Given the description of an element on the screen output the (x, y) to click on. 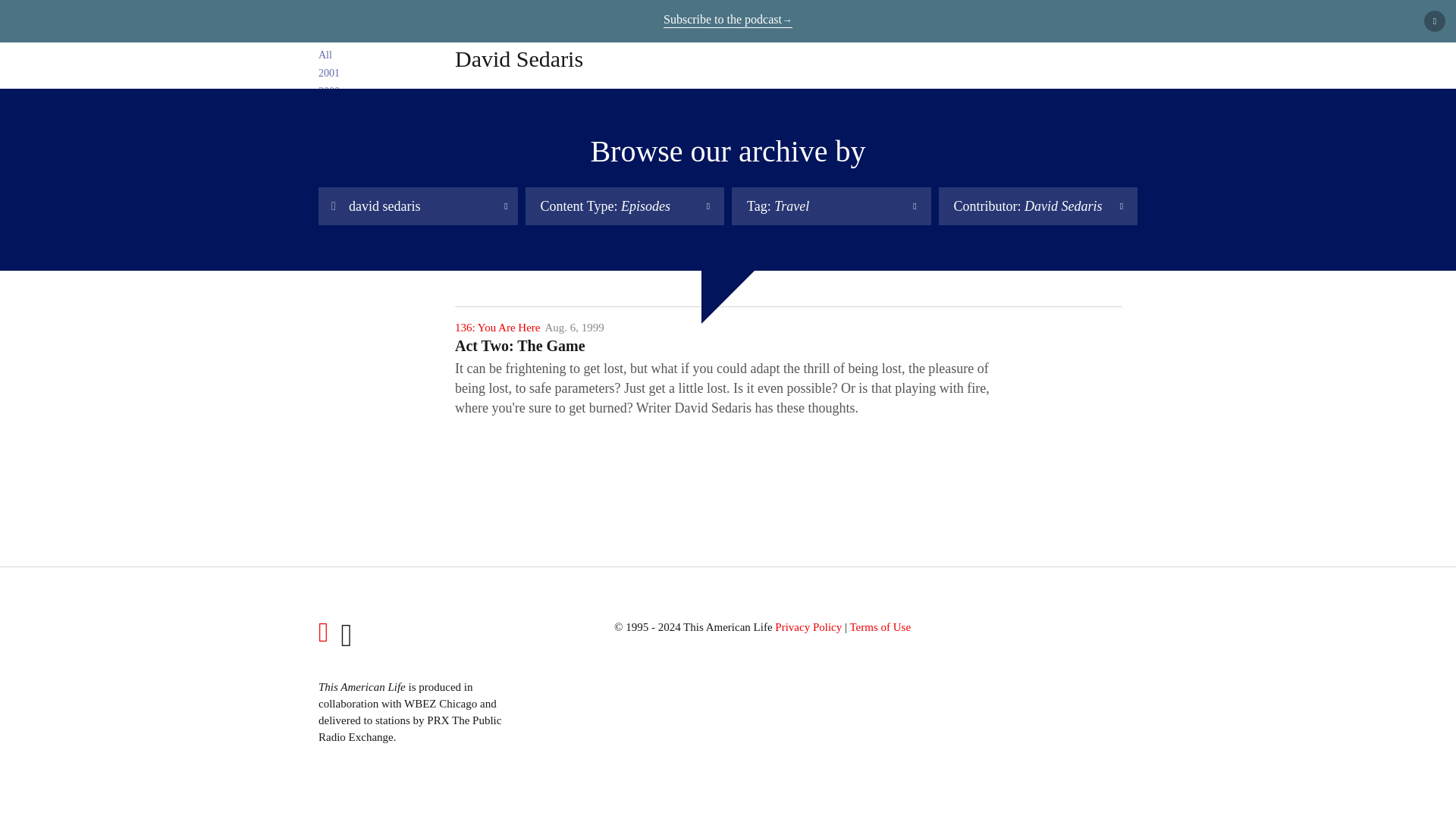
This American Life (317, 23)
david sedaris (418, 206)
